Given the description of an element on the screen output the (x, y) to click on. 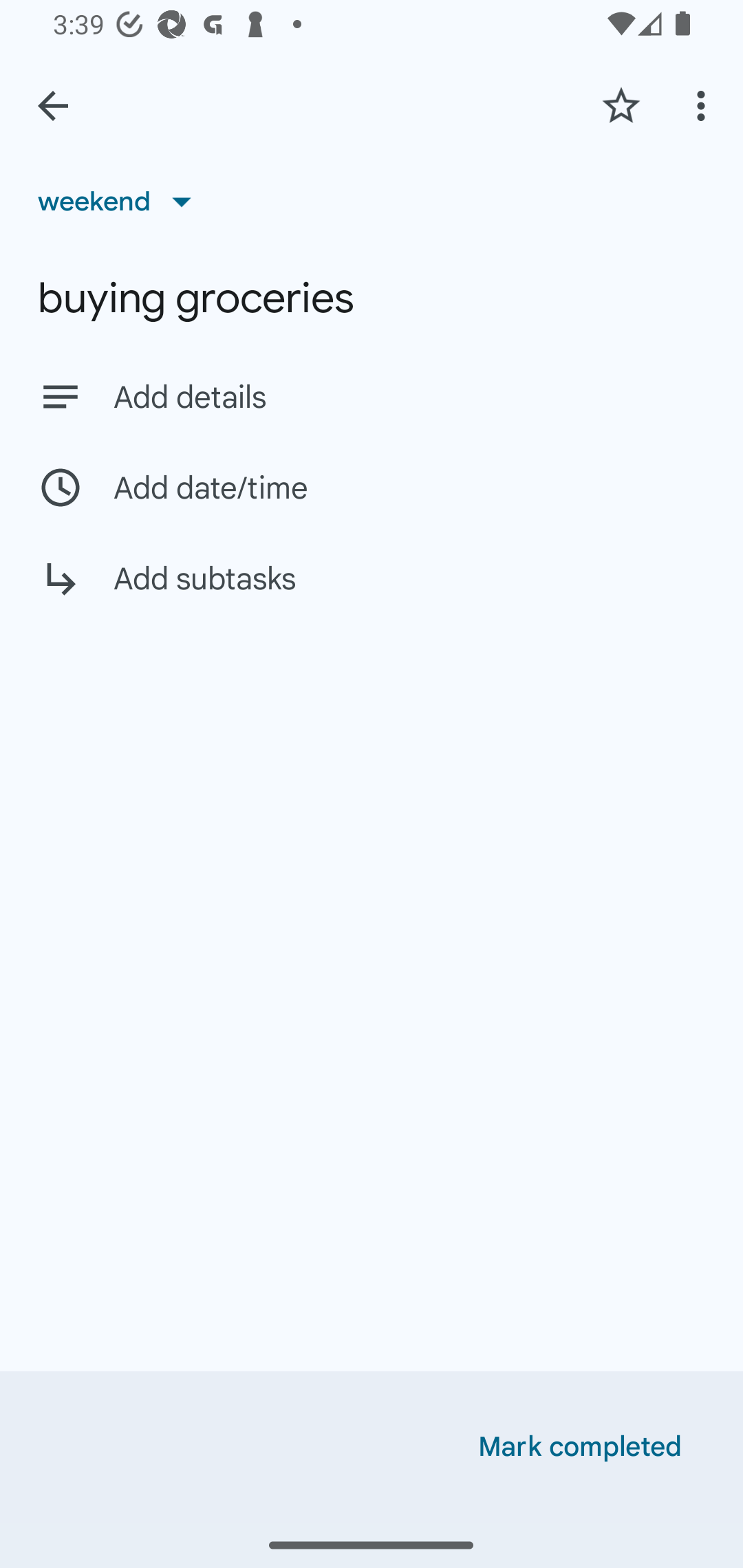
Back (53, 105)
Add star (620, 105)
More options (704, 105)
weekend List, weekend selected, 1 of 8 (120, 201)
buying groceries (371, 298)
Add details (371, 396)
Add details (409, 397)
Add date/time (371, 487)
Add subtasks (371, 593)
Mark completed (580, 1446)
